Given the description of an element on the screen output the (x, y) to click on. 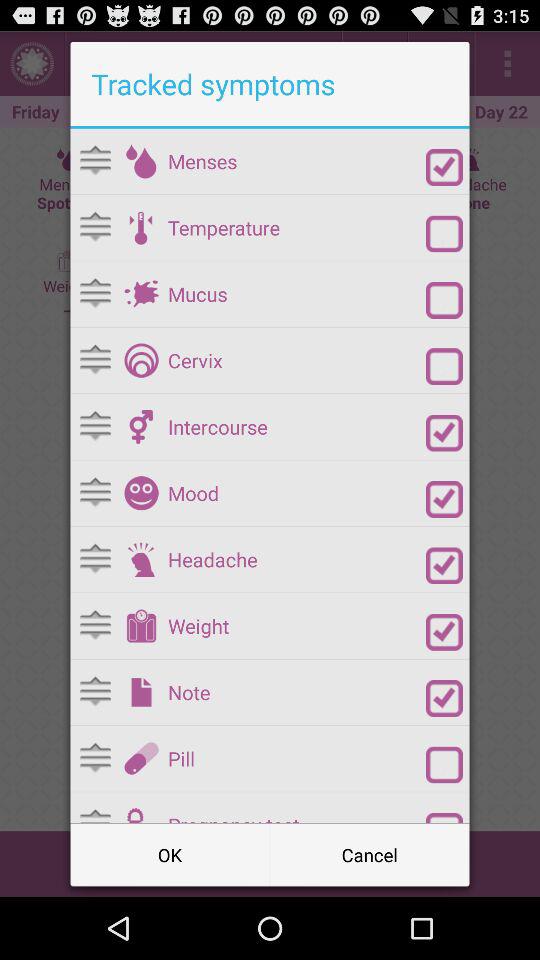
toggle note option (444, 698)
